Given the description of an element on the screen output the (x, y) to click on. 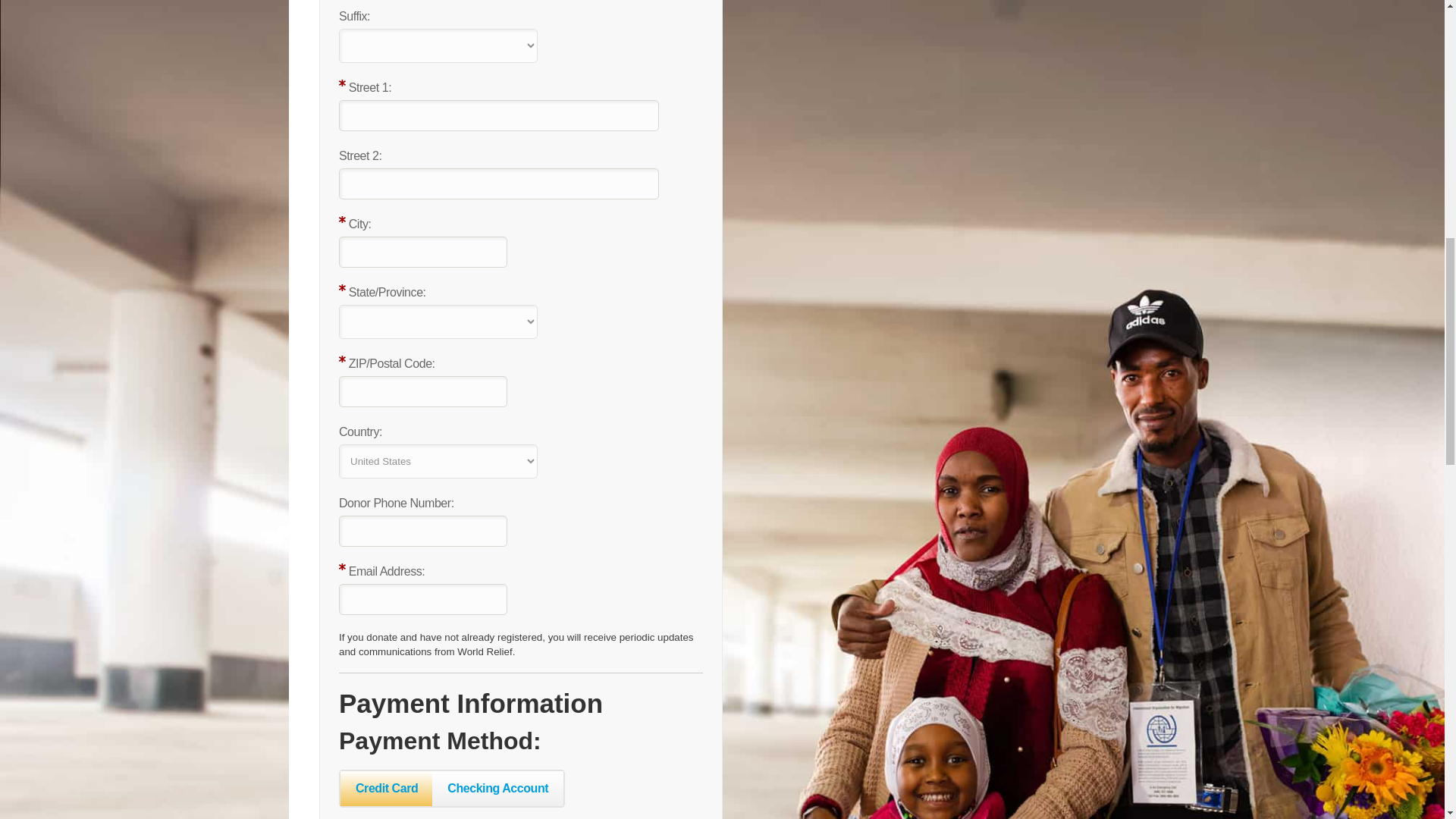
Checking Account (497, 788)
Credit Card (386, 788)
